Given the description of an element on the screen output the (x, y) to click on. 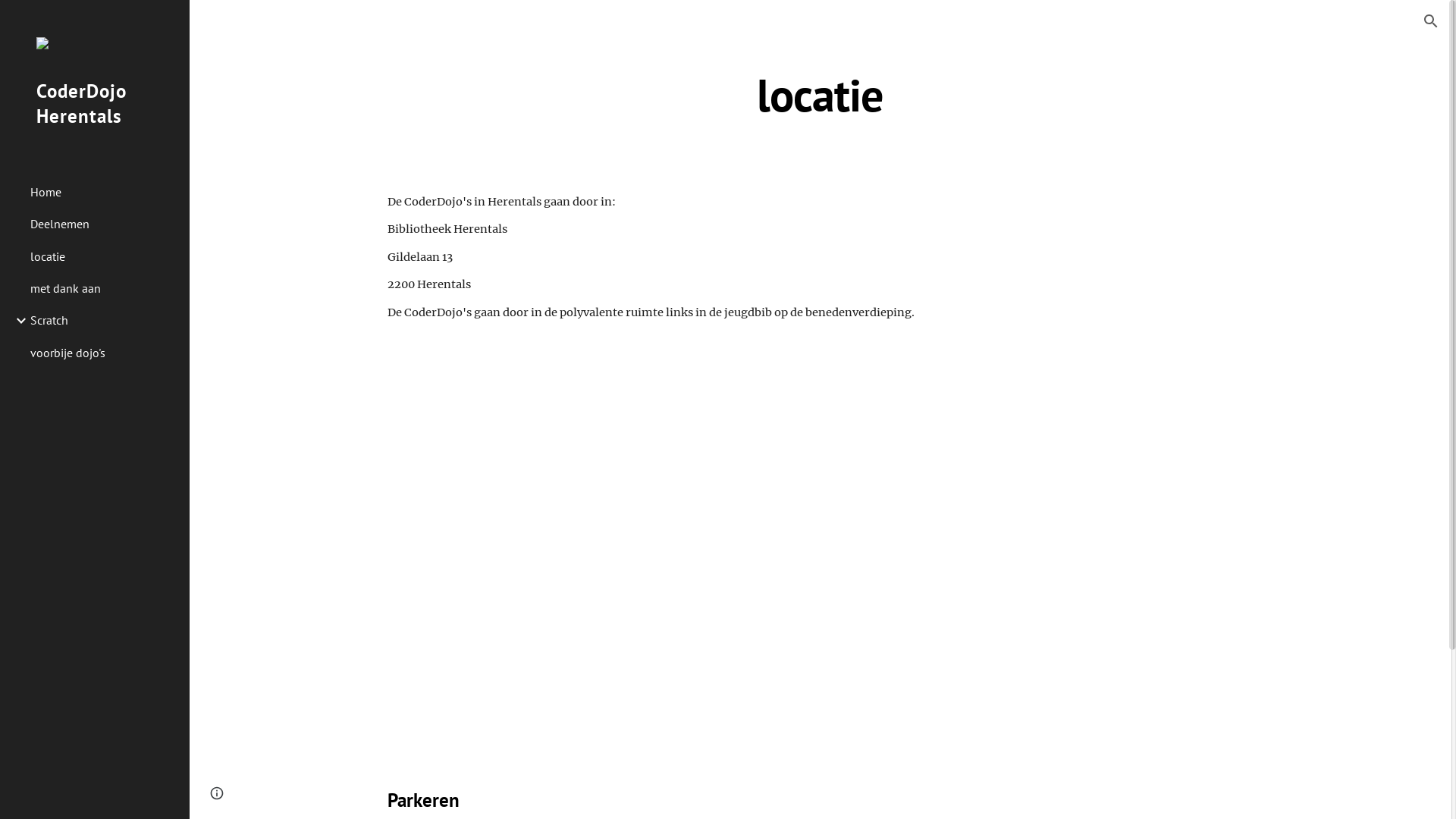
met dank aan Element type: text (103, 288)
locatie Element type: text (103, 256)
Home Element type: text (103, 191)
Deelnemen Element type: text (103, 224)
Expand/Collapse Element type: hover (16, 320)
Scratch Element type: text (103, 320)
voorbije dojo's Element type: text (103, 352)
CoderDojo Herentals Element type: text (94, 122)
